Given the description of an element on the screen output the (x, y) to click on. 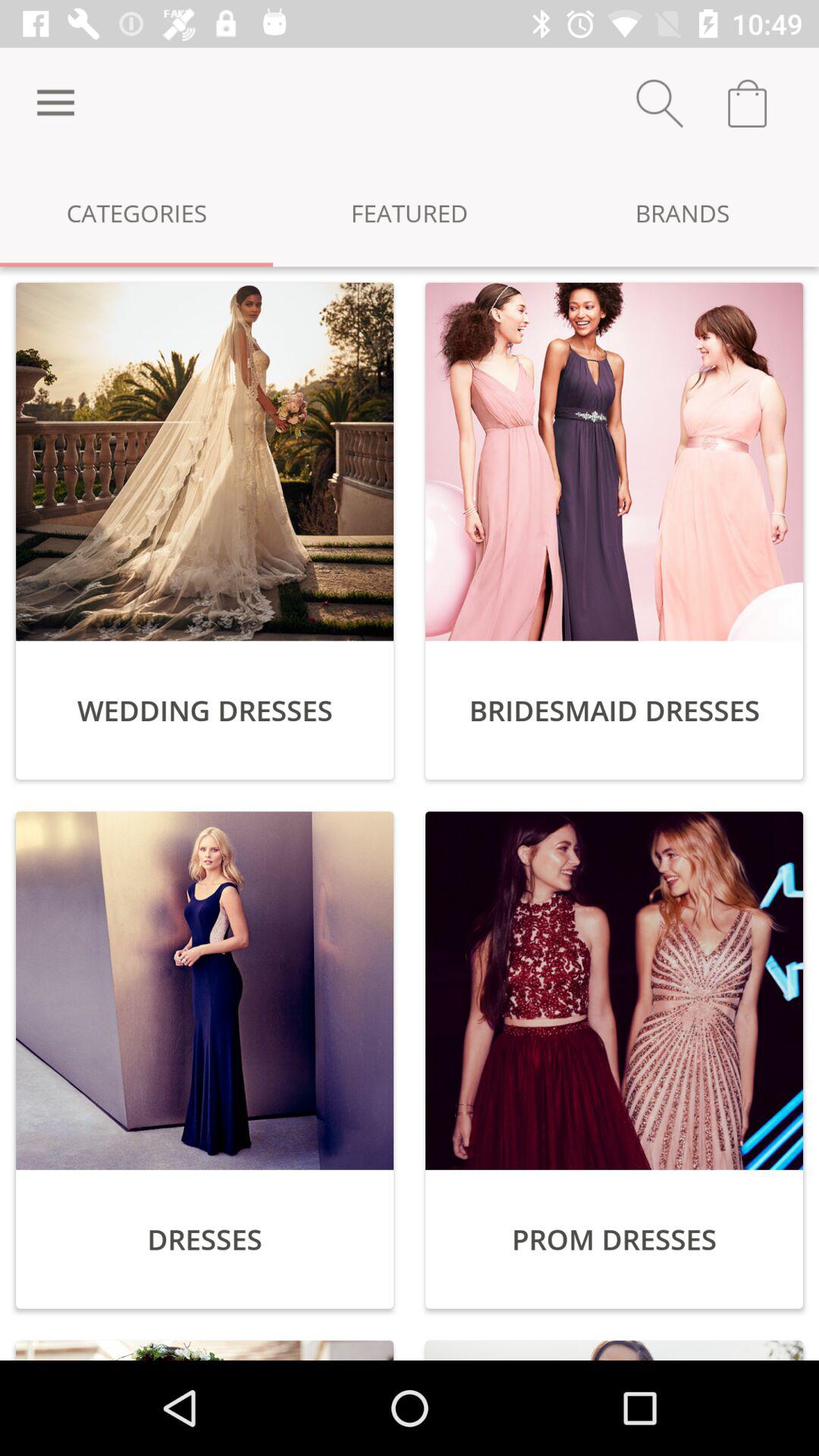
click icon next to the featured (55, 103)
